Given the description of an element on the screen output the (x, y) to click on. 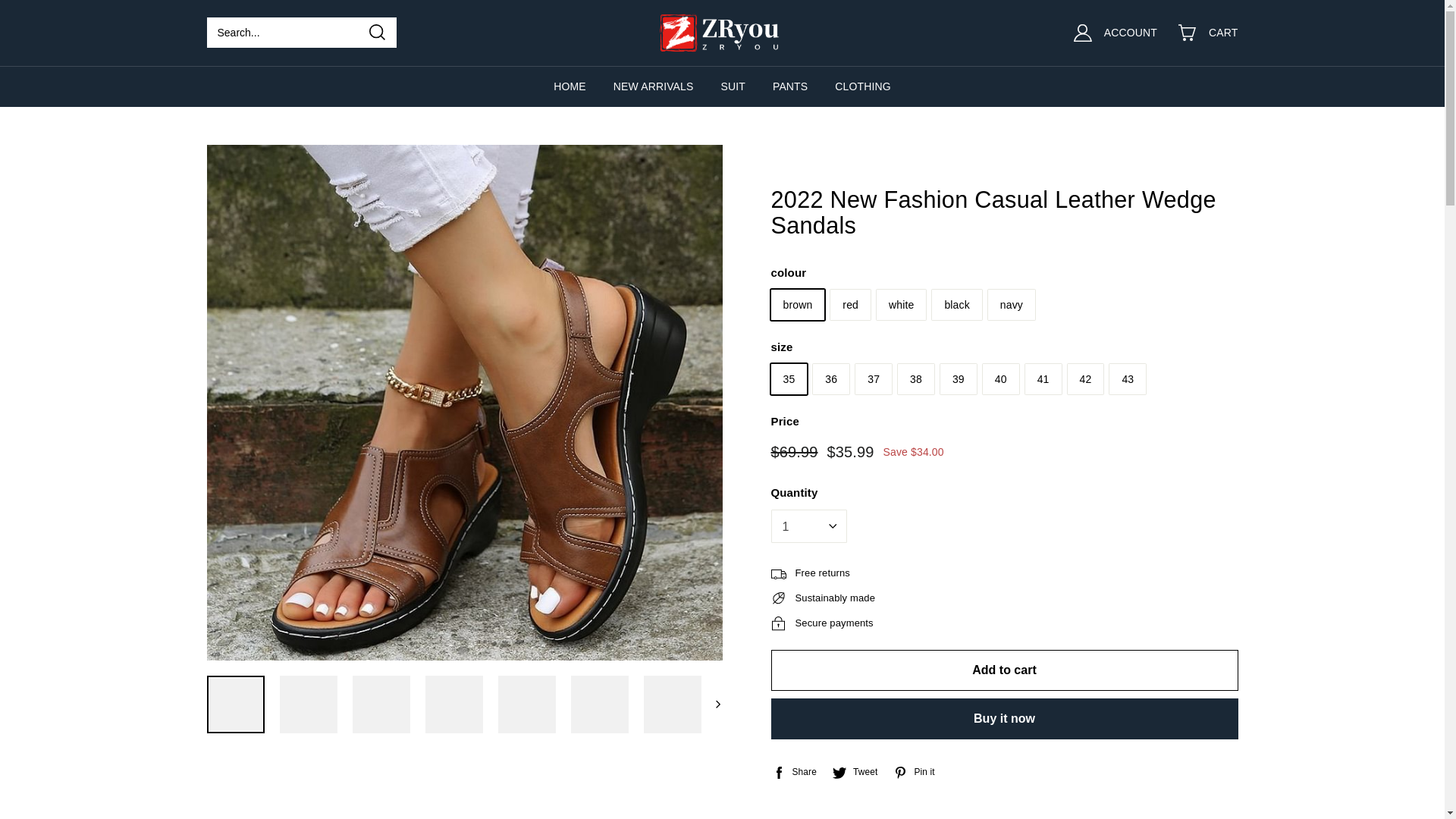
CART (1216, 32)
Share (792, 772)
PANTS (790, 85)
NEW ARRIVALS (653, 85)
SUIT (732, 85)
Buy it now (1003, 718)
HOME (569, 85)
Tweet (854, 772)
CLOTHING (861, 85)
Add to cart (1003, 670)
Pin it (913, 772)
